Given the description of an element on the screen output the (x, y) to click on. 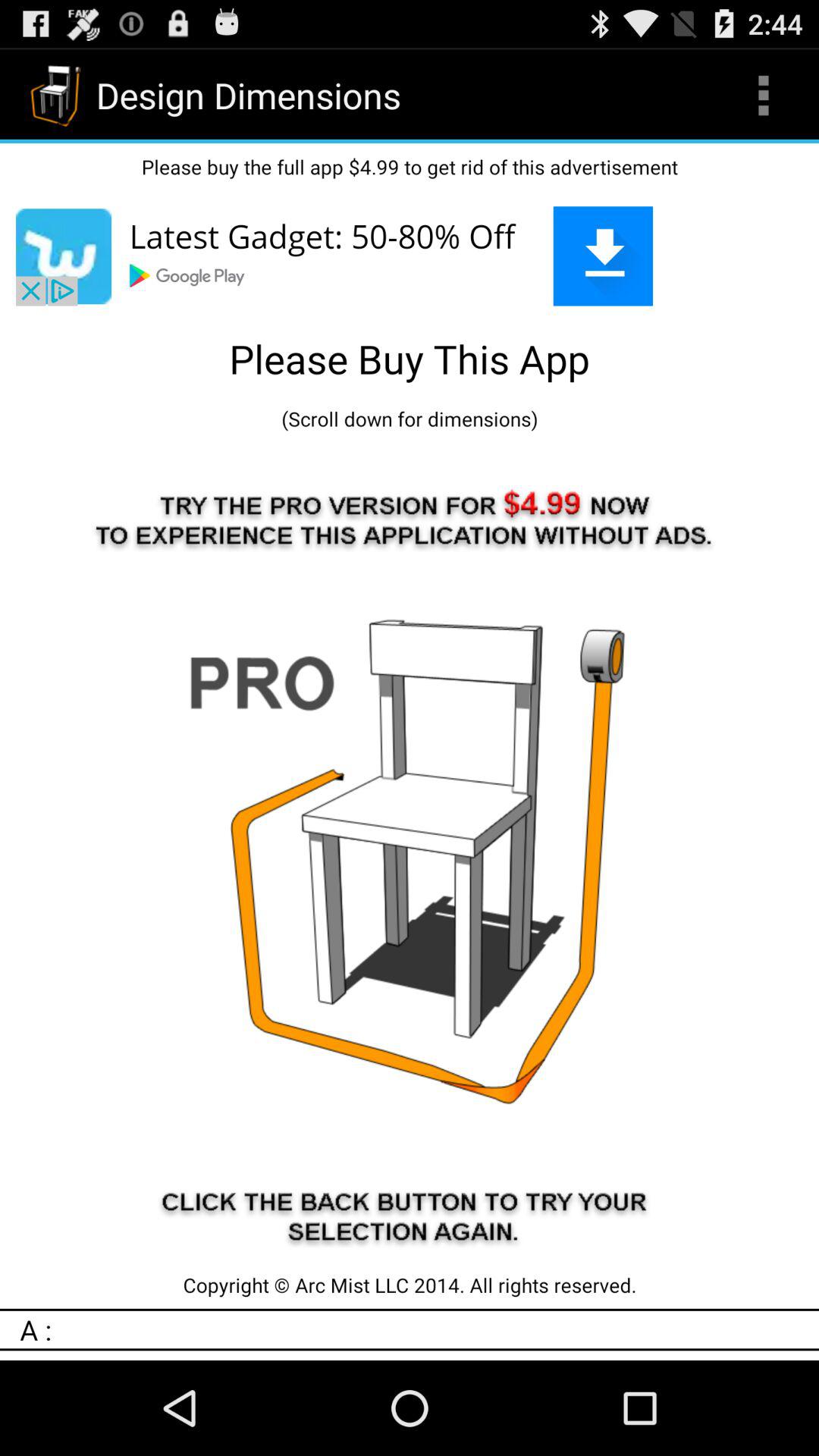
select item above a :  app (409, 1284)
